Given the description of an element on the screen output the (x, y) to click on. 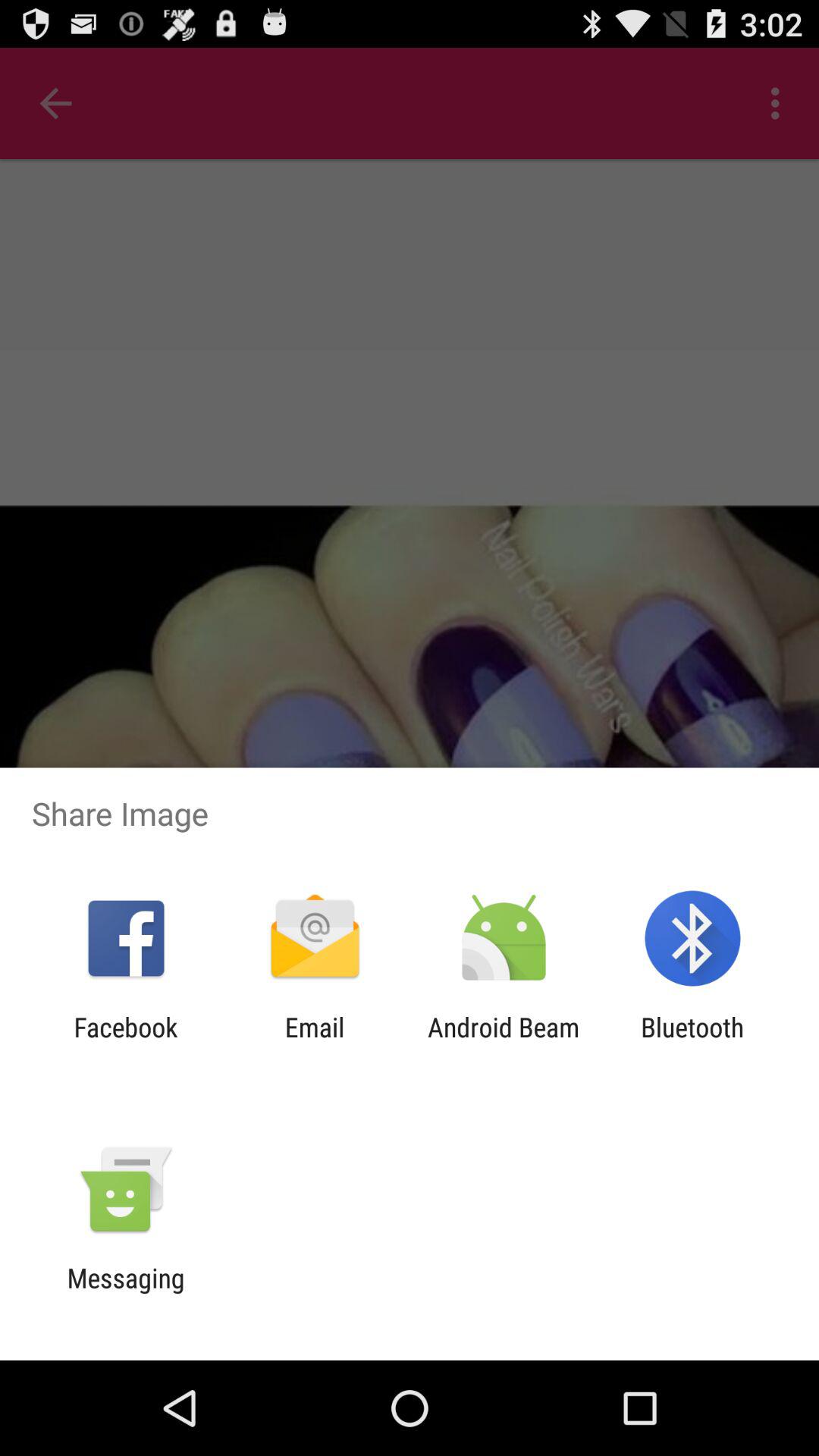
turn on the icon next to email (503, 1042)
